Given the description of an element on the screen output the (x, y) to click on. 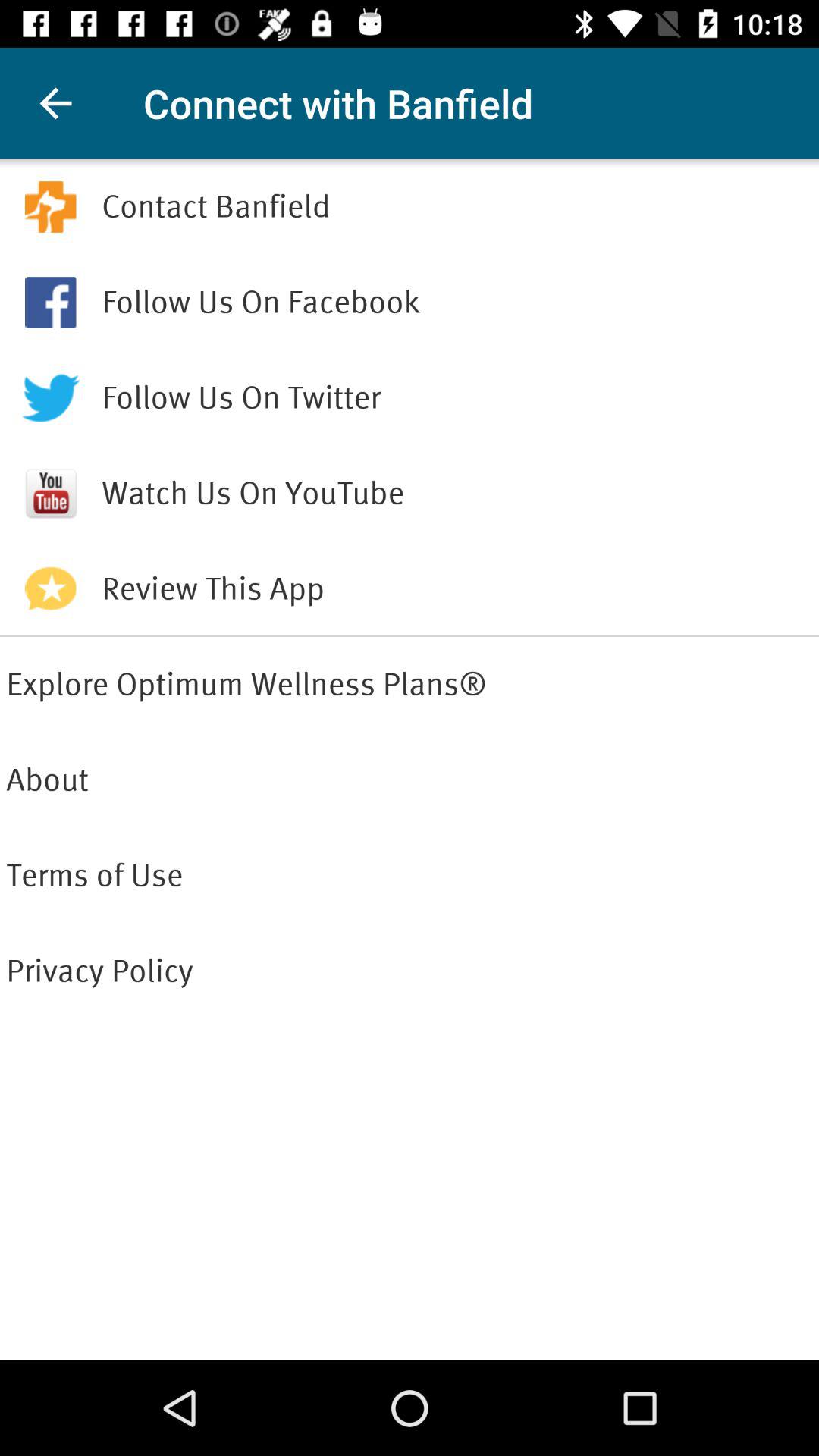
turn off item below watch us on icon (457, 589)
